Given the description of an element on the screen output the (x, y) to click on. 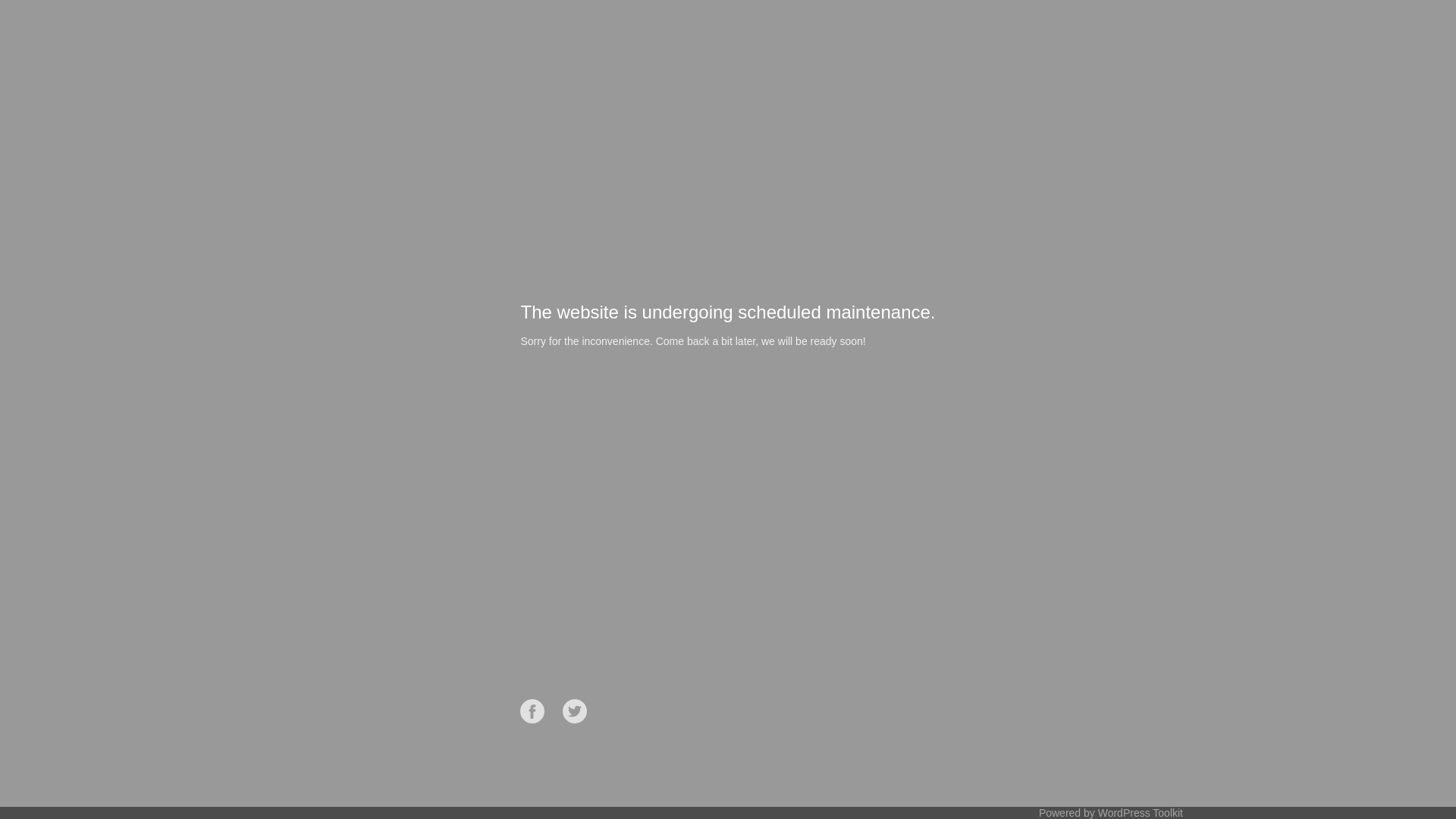
Facebook Element type: hover (532, 711)
Twitter Element type: hover (574, 711)
